Given the description of an element on the screen output the (x, y) to click on. 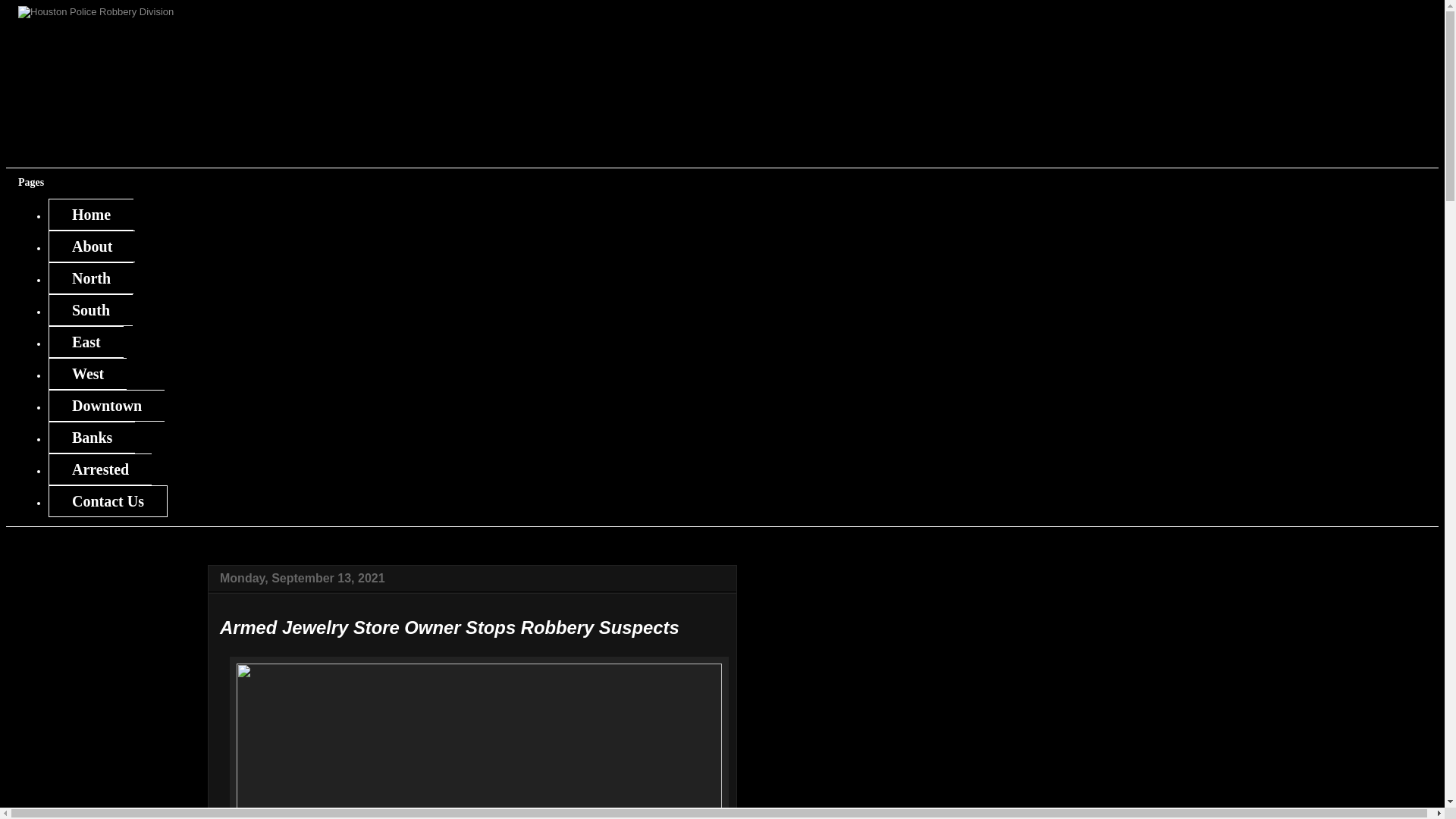
North (90, 278)
Arrested (99, 469)
South (90, 309)
East (85, 341)
About (91, 246)
Downtown (106, 405)
Contact Us (107, 500)
Banks (91, 437)
Home (90, 214)
West (87, 373)
